Given the description of an element on the screen output the (x, y) to click on. 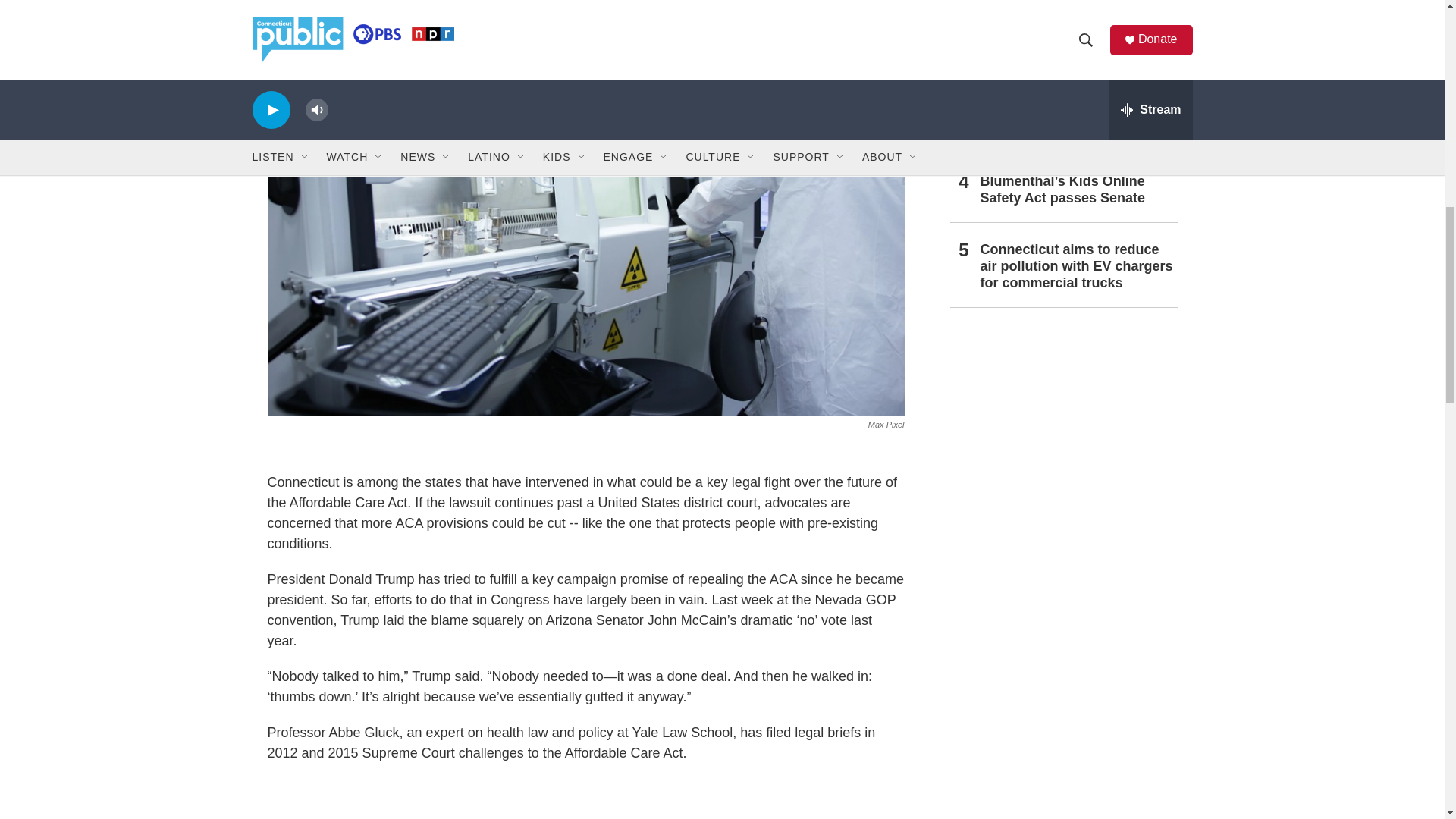
3rd party ad content (585, 797)
3rd party ad content (1062, 652)
3rd party ad content (1062, 798)
3rd party ad content (1062, 432)
